Given the description of an element on the screen output the (x, y) to click on. 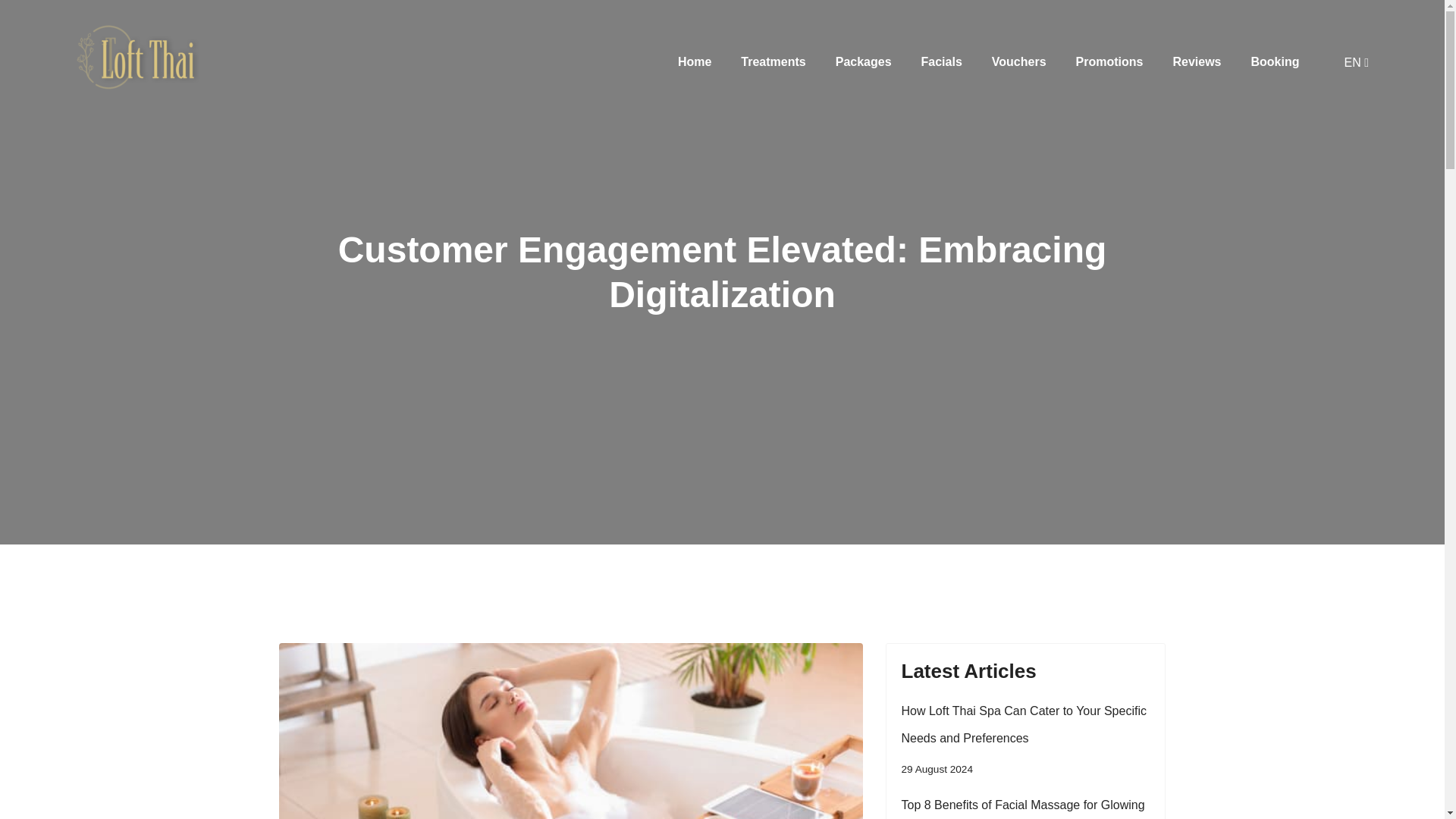
Treatments (772, 61)
Promotions (1109, 61)
Reviews (1195, 61)
Booking (1274, 61)
Vouchers (1018, 61)
EN (1355, 62)
Packages (863, 61)
